Given the description of an element on the screen output the (x, y) to click on. 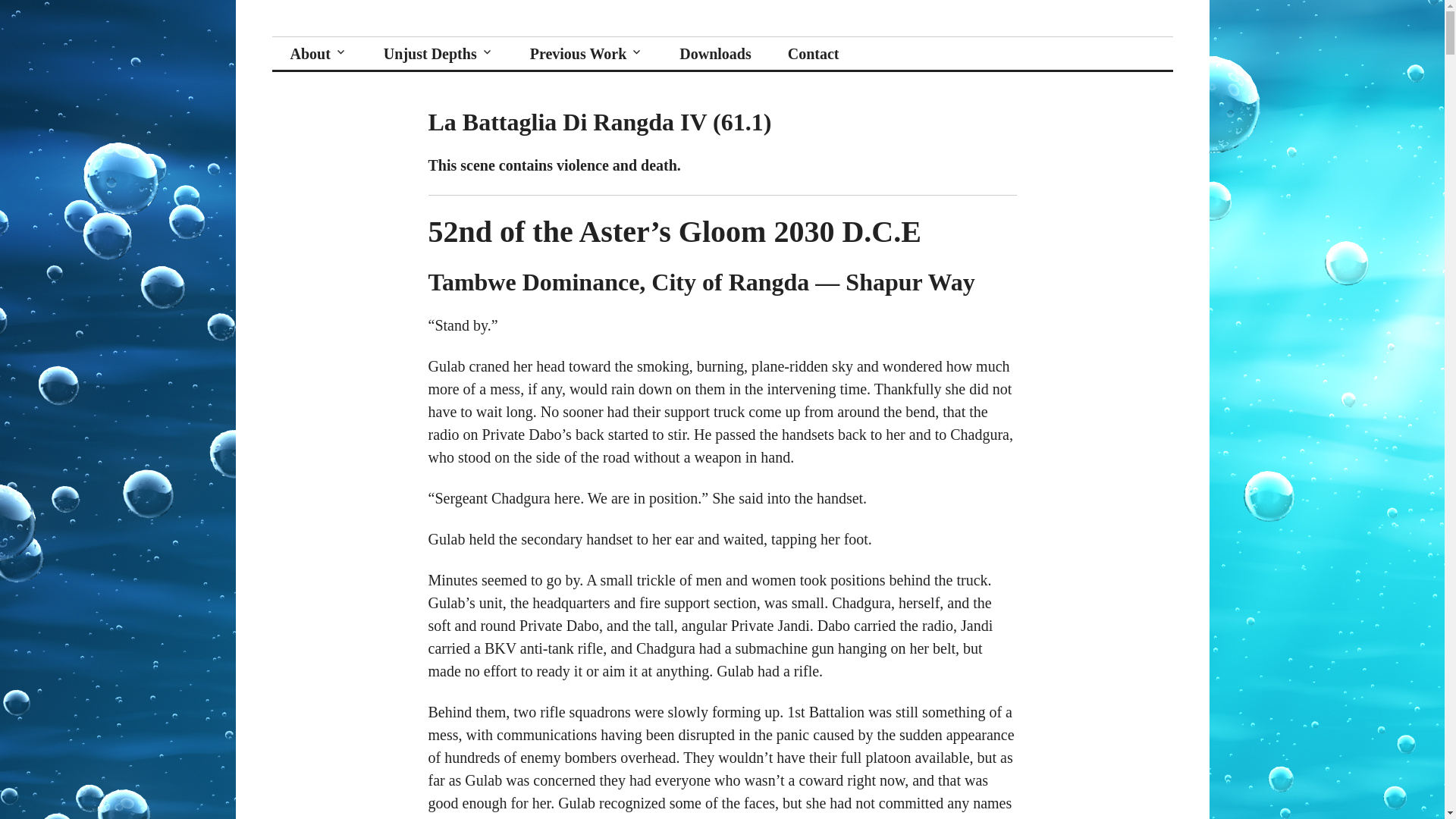
Contact (813, 53)
Unjust Depths (438, 53)
Unjust Depths (364, 35)
Previous Work (587, 53)
Downloads (714, 53)
About (317, 53)
